Given the description of an element on the screen output the (x, y) to click on. 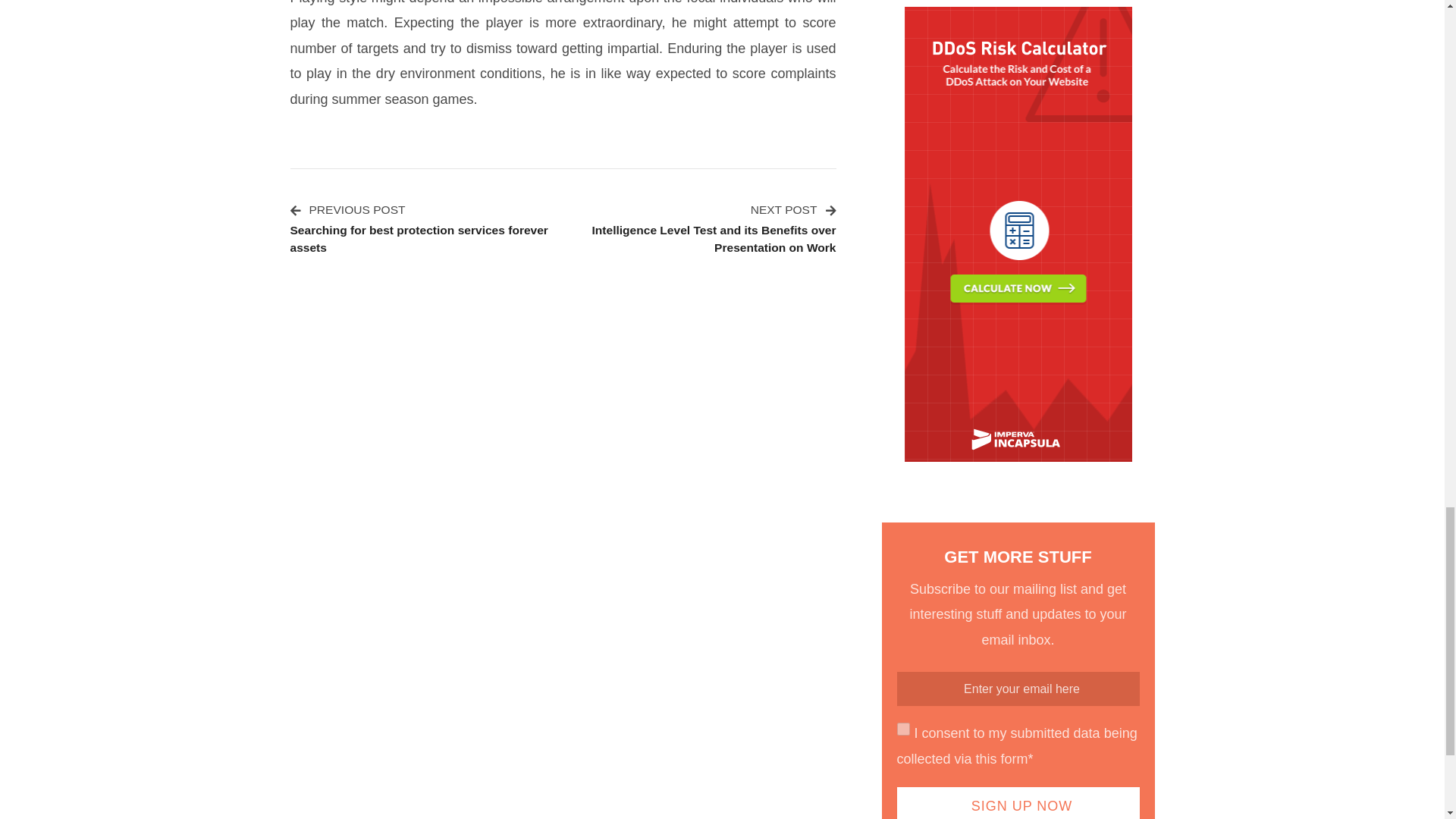
Sign Up Now (1017, 803)
on (902, 728)
